Given the description of an element on the screen output the (x, y) to click on. 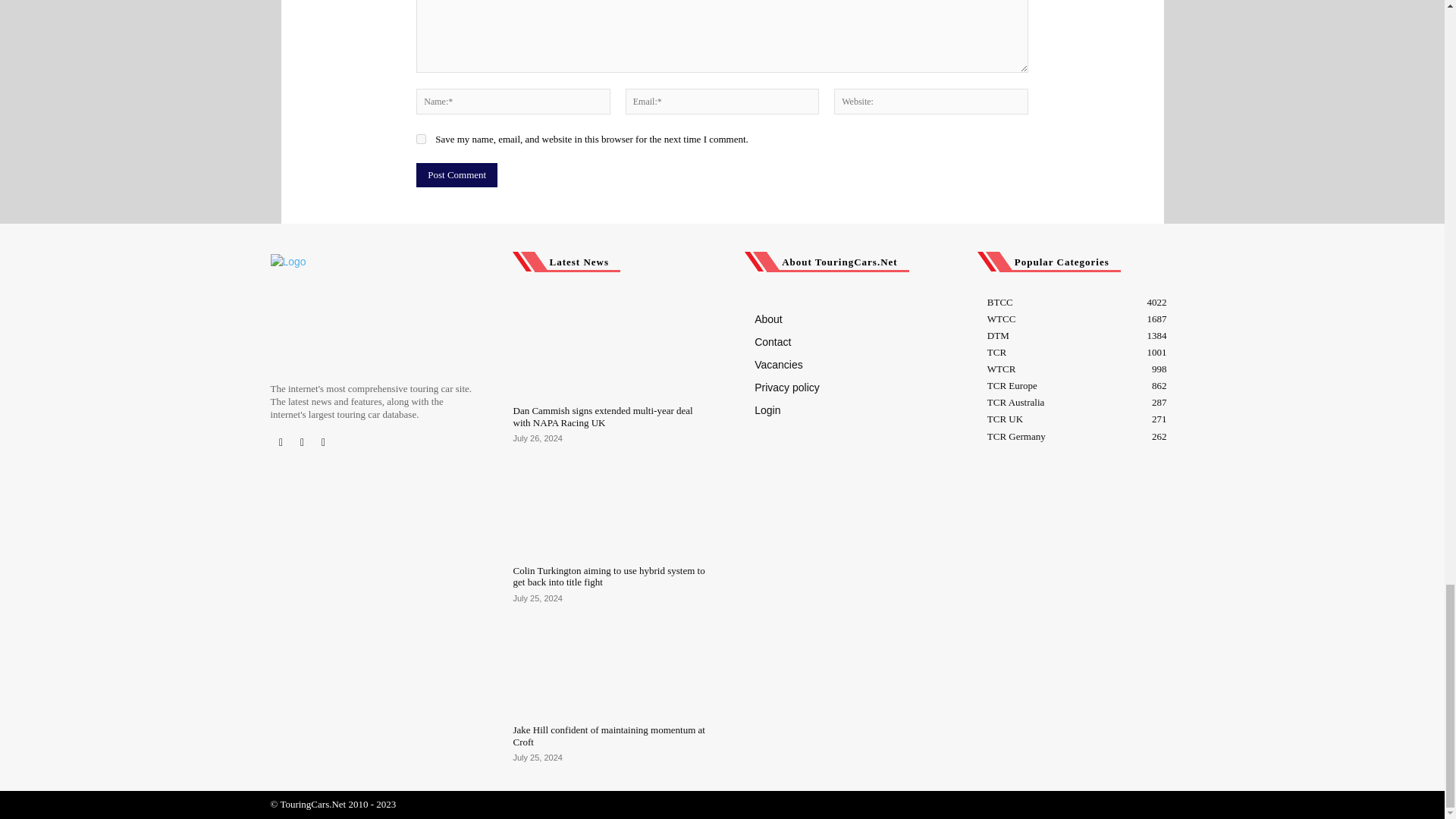
Post Comment (456, 174)
yes (421, 139)
